Given the description of an element on the screen output the (x, y) to click on. 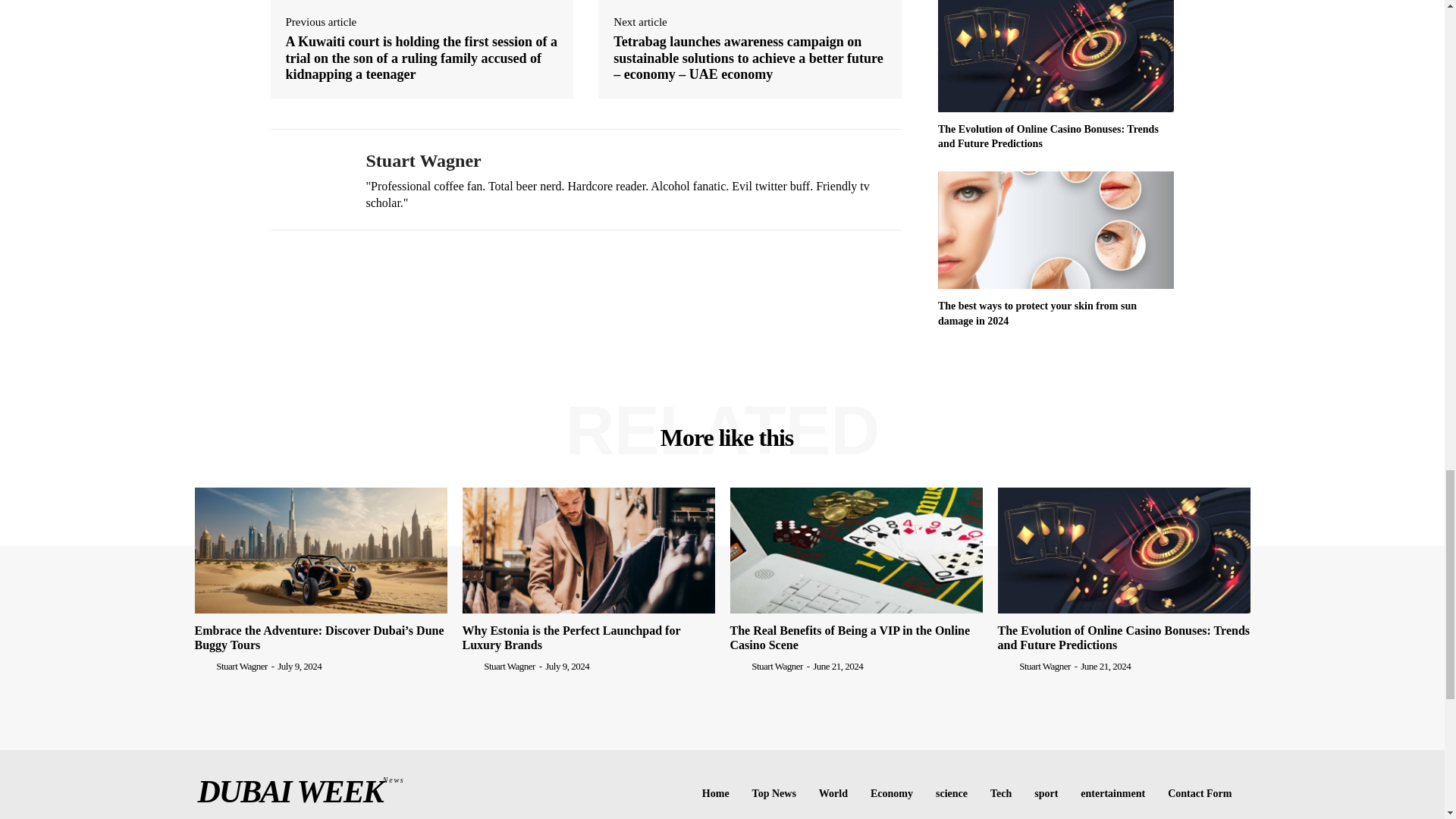
The best ways to protect your skin from sun damage in 2024 (1055, 230)
Stuart Wagner (305, 179)
